Given the description of an element on the screen output the (x, y) to click on. 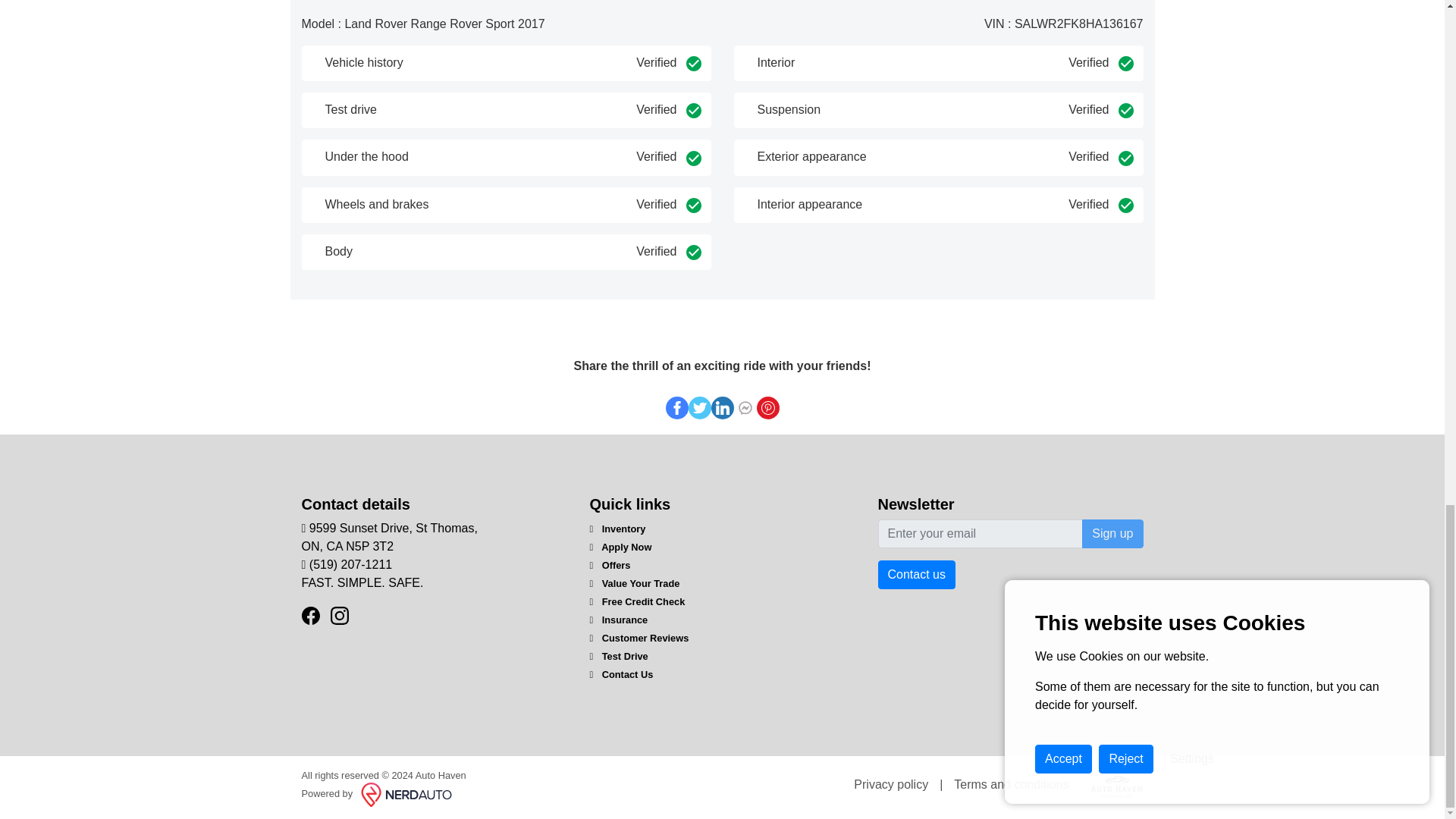
Partager sur LinkedIn (722, 406)
Partager sur Twitter (699, 406)
Partager sur Pinterest (389, 536)
Partager sur Facebook (767, 406)
Partager sur FB Messenger (676, 406)
